Given the description of an element on the screen output the (x, y) to click on. 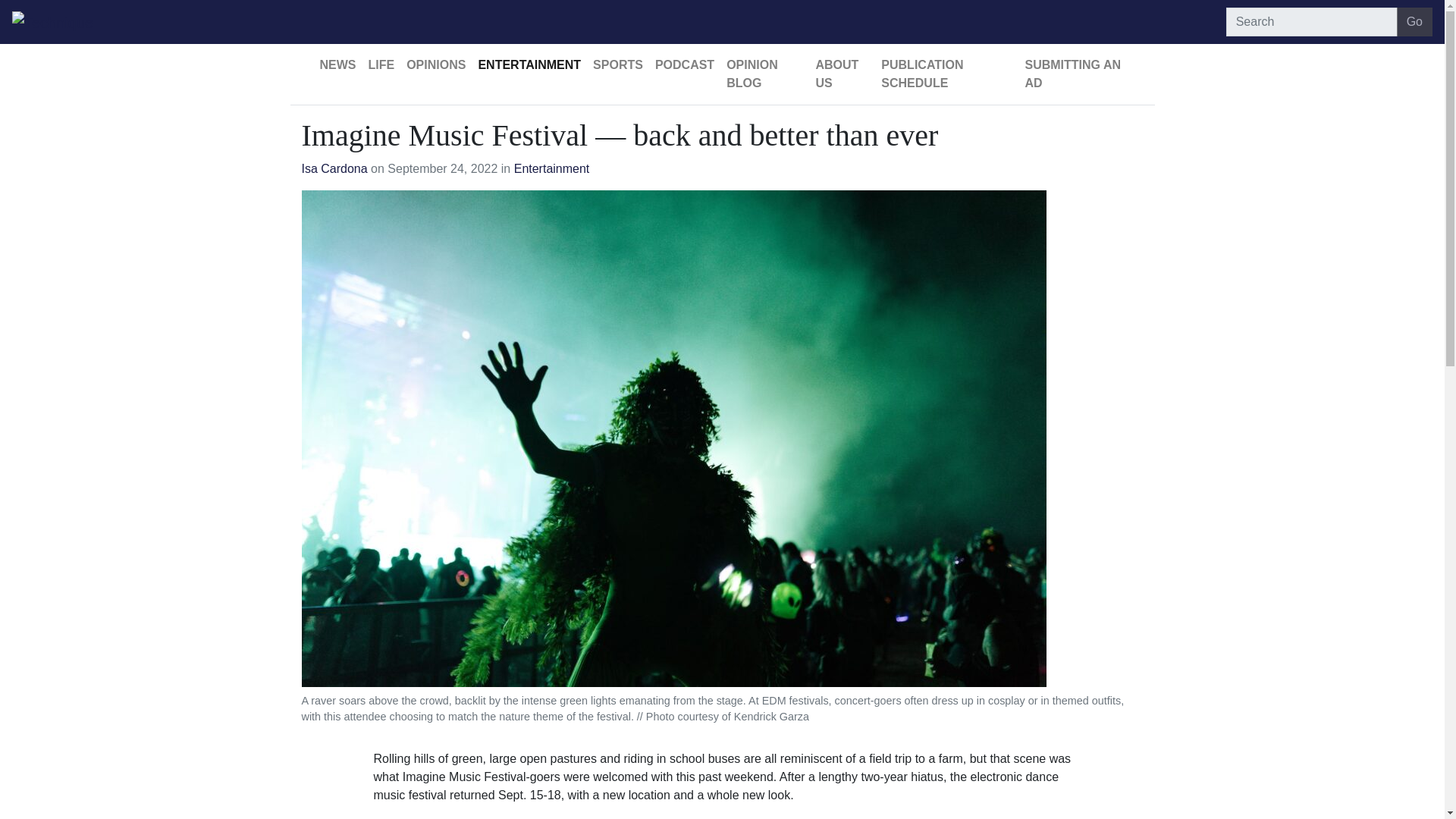
Go (1414, 21)
Life (381, 64)
ENTERTAINMENT (528, 64)
Entertainment (528, 64)
PUBLICATION SCHEDULE (946, 73)
PODCAST (684, 64)
Isa Cardona (334, 168)
SPORTS (617, 64)
NEWS (338, 64)
Sports (617, 64)
Posts by Isa Cardona (334, 168)
LIFE (381, 64)
Podcast (684, 64)
News (338, 64)
Opinion Blog (764, 73)
